Given the description of an element on the screen output the (x, y) to click on. 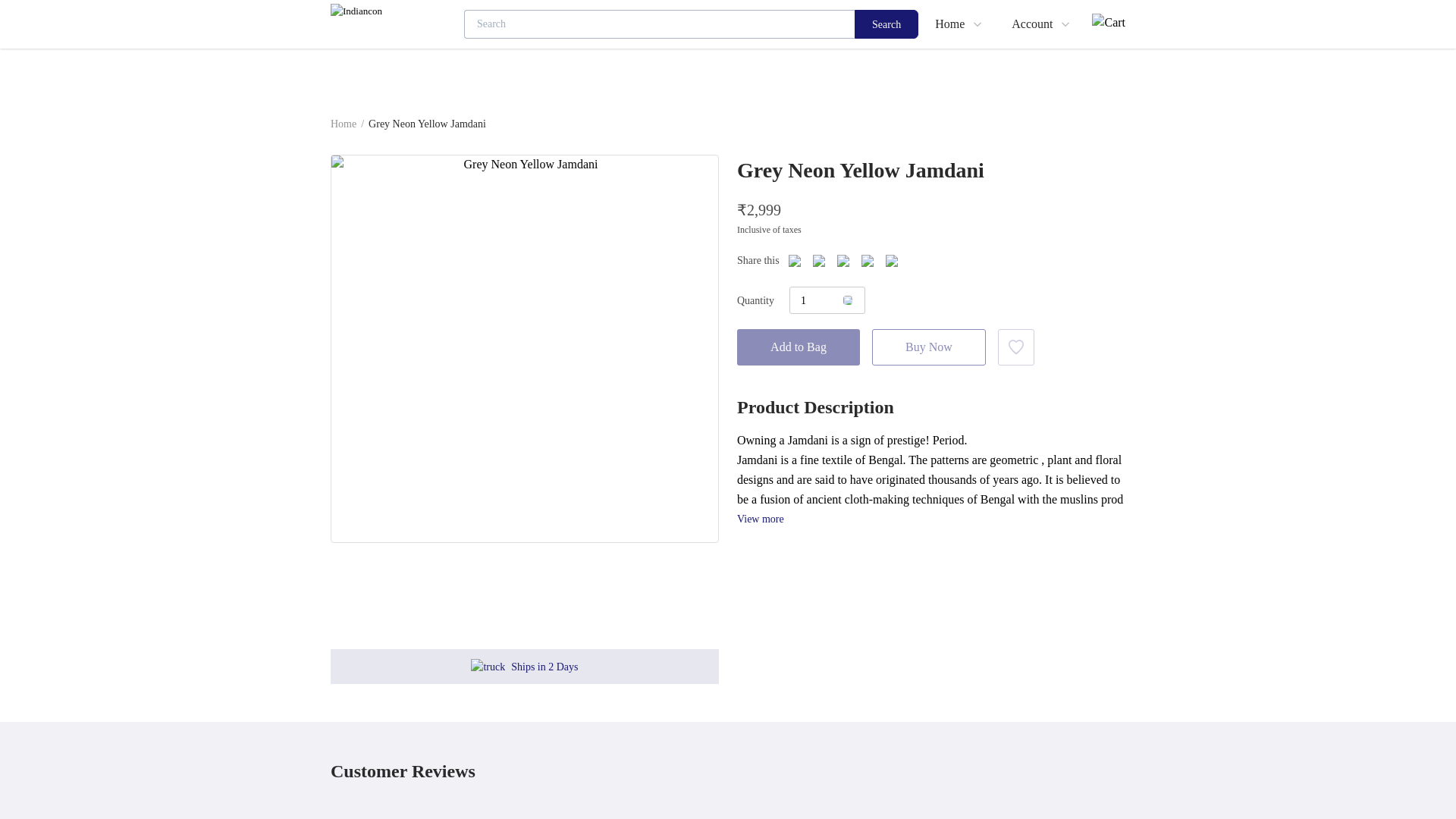
Buy Now (928, 347)
Add to Bag (798, 347)
Copy product short link (891, 260)
Search (886, 23)
Home (343, 123)
